Given the description of an element on the screen output the (x, y) to click on. 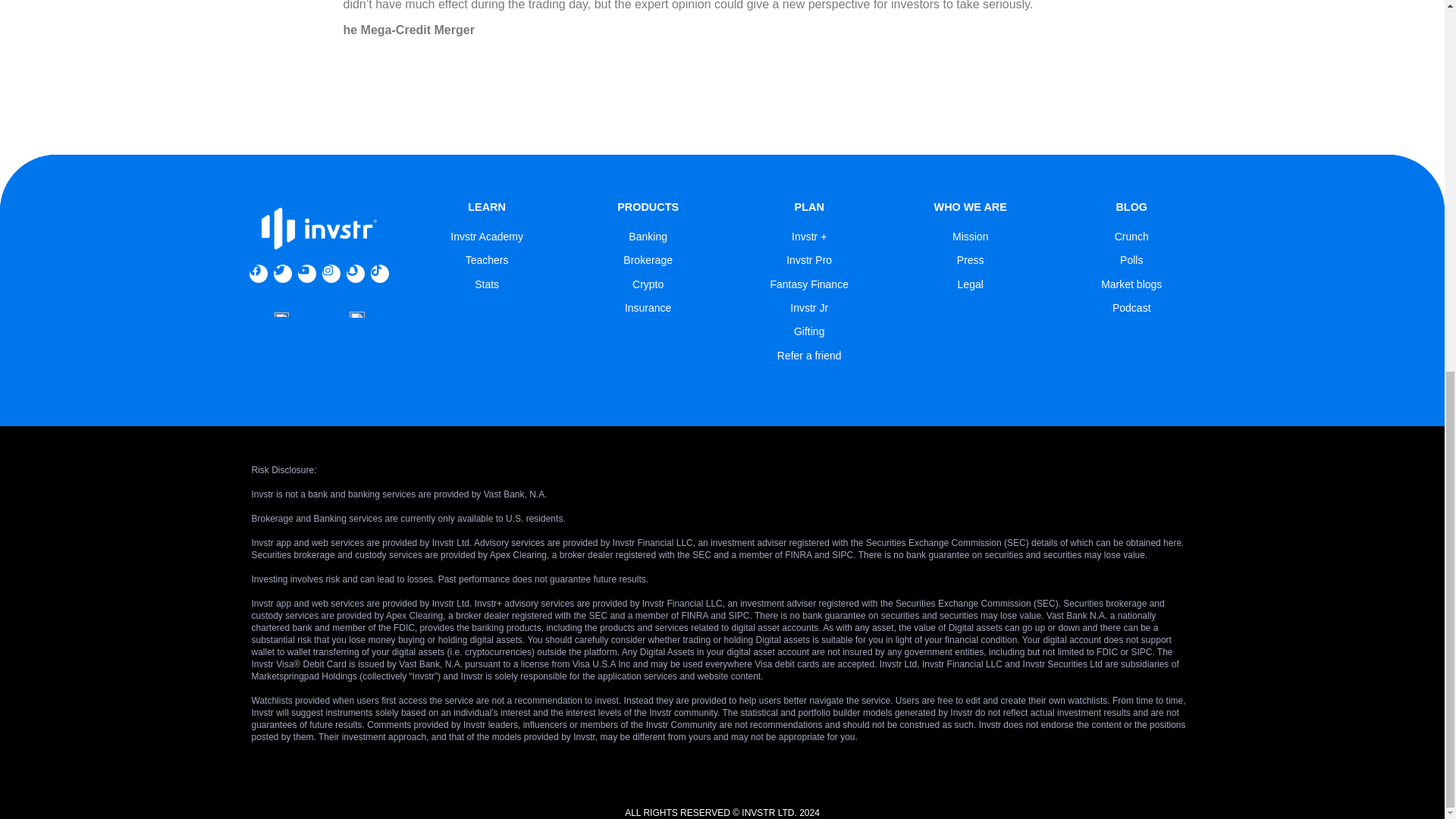
Brokerage (647, 259)
Invstr Academy (485, 236)
Fantasy Finance (809, 284)
Insurance (647, 307)
Invstr Jr (809, 307)
Press (970, 259)
Refer a friend (809, 355)
Stats (486, 284)
Teachers (486, 259)
Mission (970, 236)
Gifting (808, 331)
Legal (971, 284)
Banking (647, 236)
Crypto (647, 284)
Invstr Pro (808, 259)
